Given the description of an element on the screen output the (x, y) to click on. 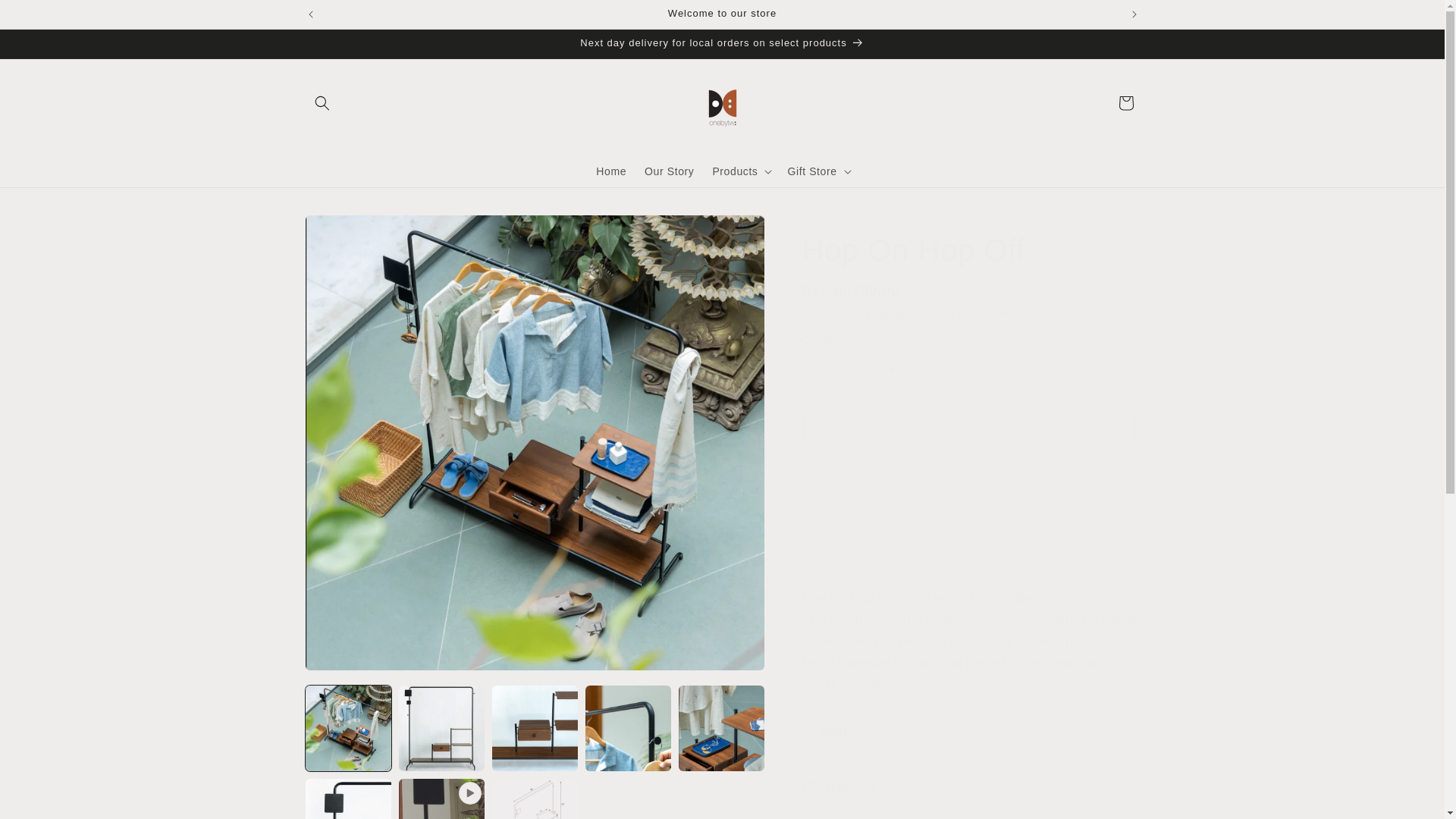
Our Story (668, 170)
Skip to content (46, 18)
Next day delivery for local orders on select products (721, 43)
Home (610, 170)
1 (856, 370)
